Given the description of an element on the screen output the (x, y) to click on. 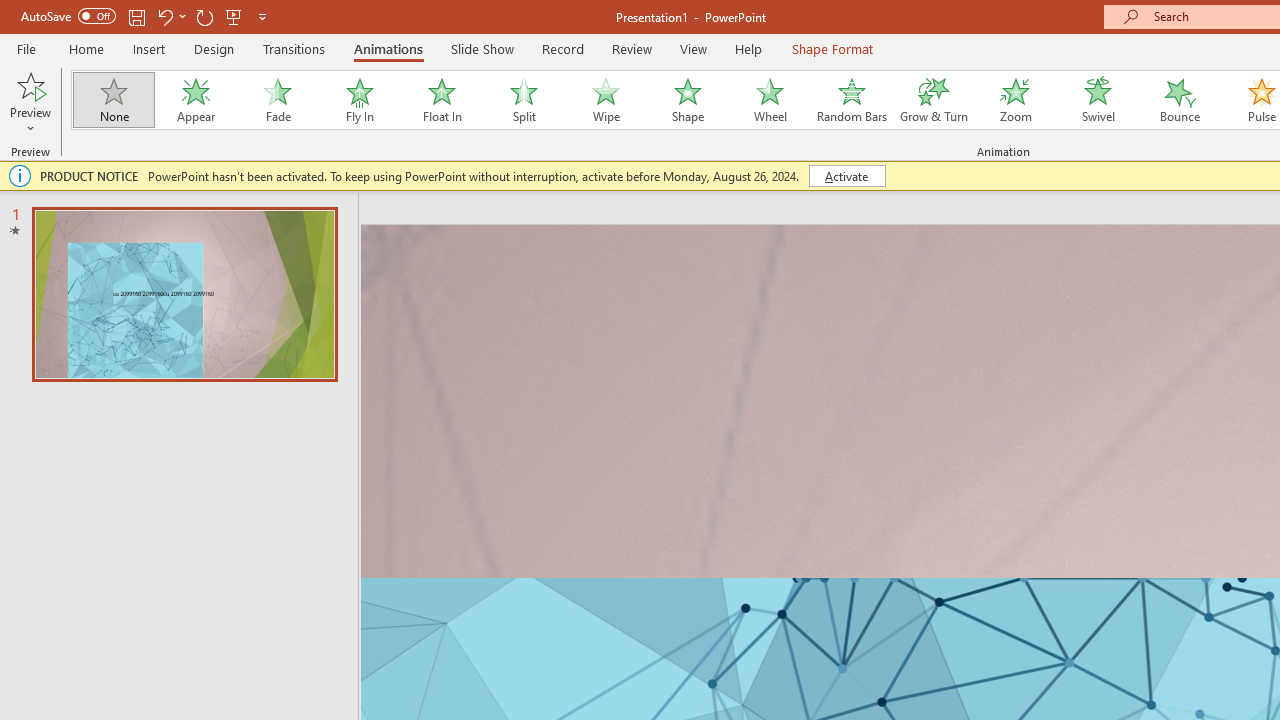
Wipe (605, 100)
Wheel (770, 100)
Split (523, 100)
Preview (30, 102)
Appear (195, 100)
Grow & Turn (934, 100)
